Given the description of an element on the screen output the (x, y) to click on. 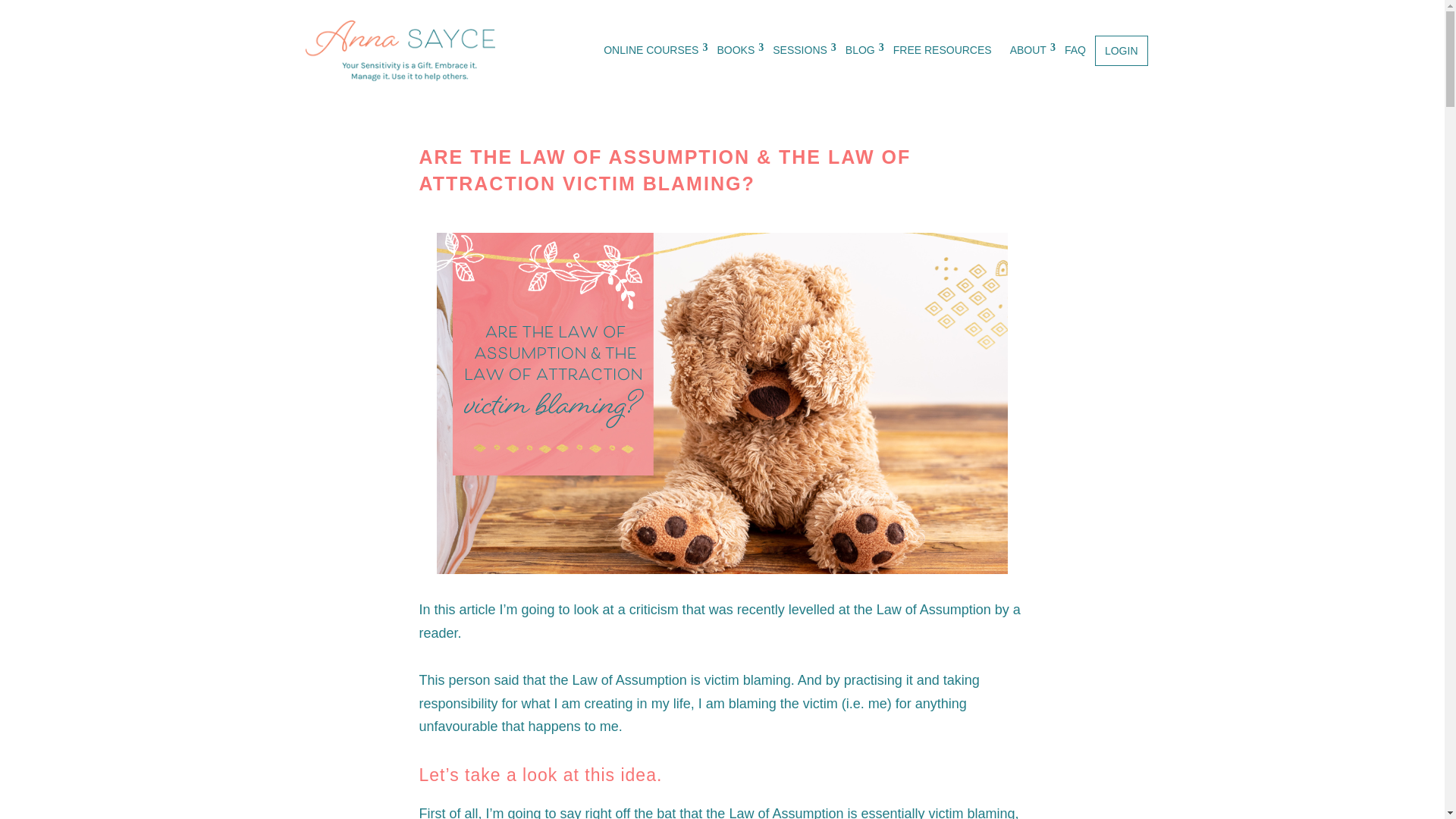
ONLINE COURSES (650, 51)
FAQ (1074, 51)
LOGIN (1121, 51)
BOOKS (734, 51)
FREE RESOURCES (942, 51)
SESSIONS (798, 51)
ABOUT (1028, 51)
BLOG (859, 51)
